Given the description of an element on the screen output the (x, y) to click on. 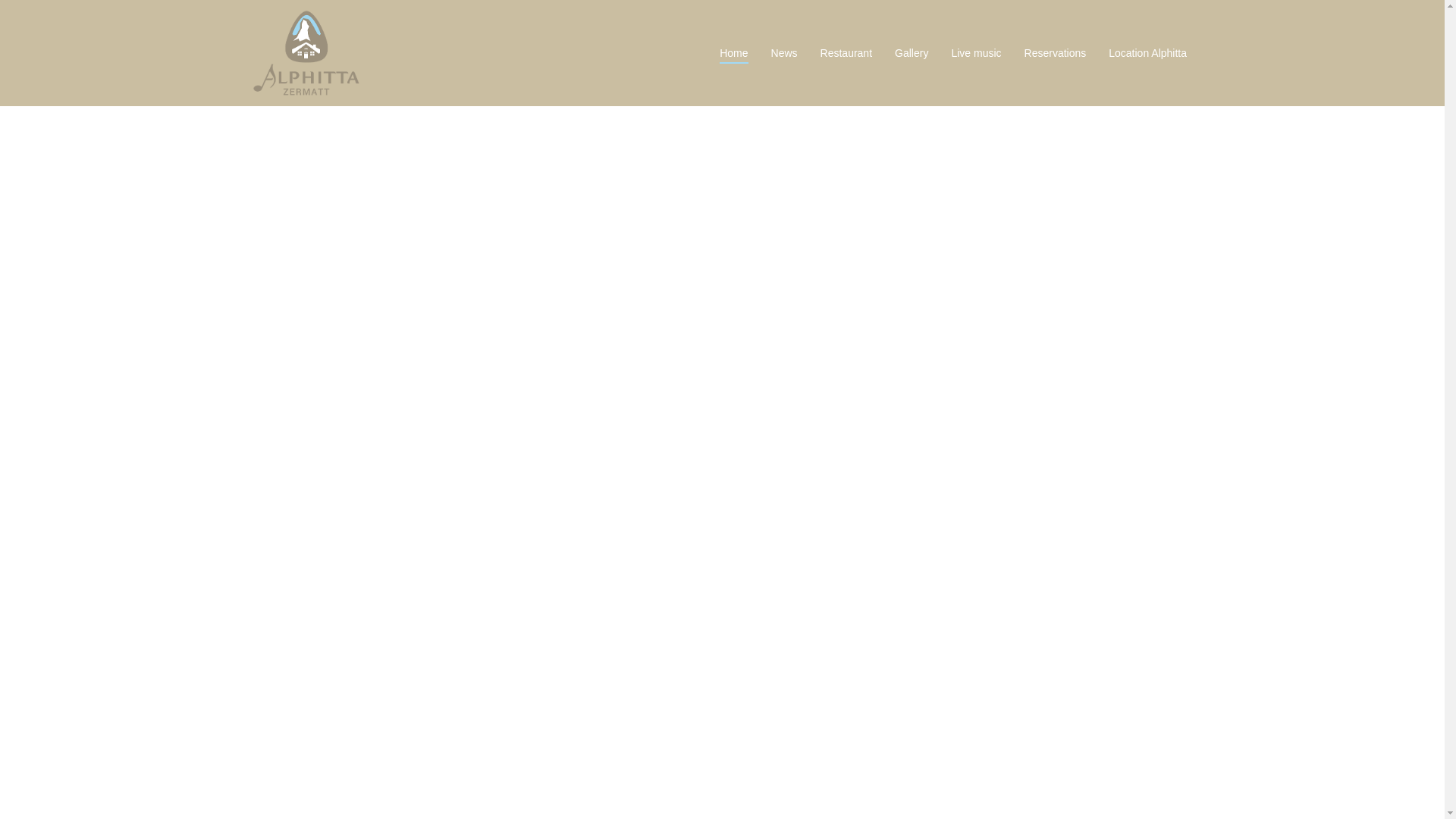
News (784, 52)
Live music (975, 52)
Reservations (1055, 52)
Impressum (679, 795)
Location Alphitta (1147, 52)
Gallery (911, 52)
Home (733, 52)
Datenschutz (615, 795)
Restaurant (846, 52)
